Given the description of an element on the screen output the (x, y) to click on. 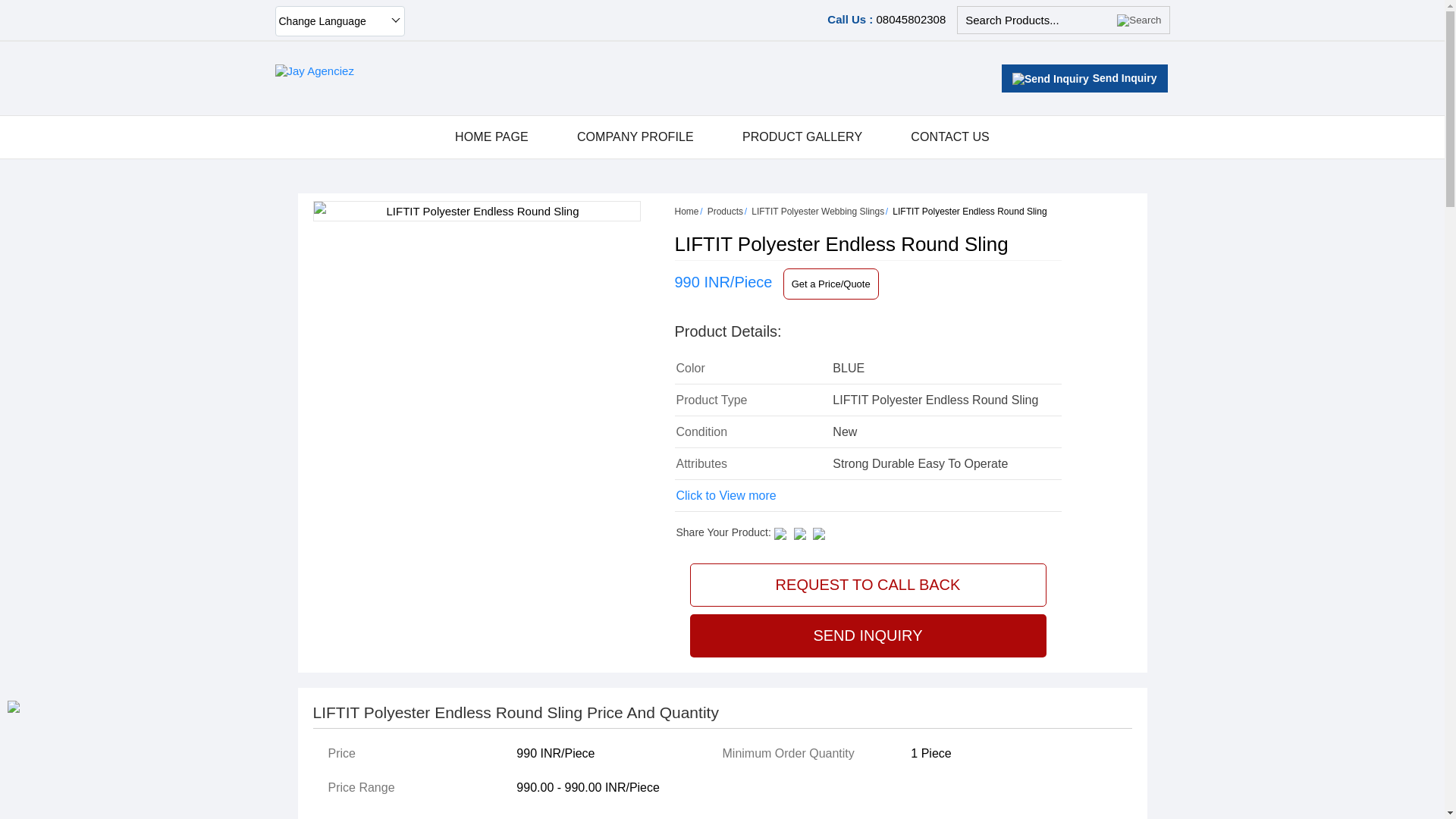
Search (1138, 20)
HOME PAGE (491, 137)
COMPANY PROFILE (635, 137)
submit (1138, 20)
PRODUCT GALLERY (802, 137)
Send Inquiry (1084, 77)
Send Inquiry (1050, 78)
Jay Agenciez (314, 70)
Search Products... (1037, 19)
